Given the description of an element on the screen output the (x, y) to click on. 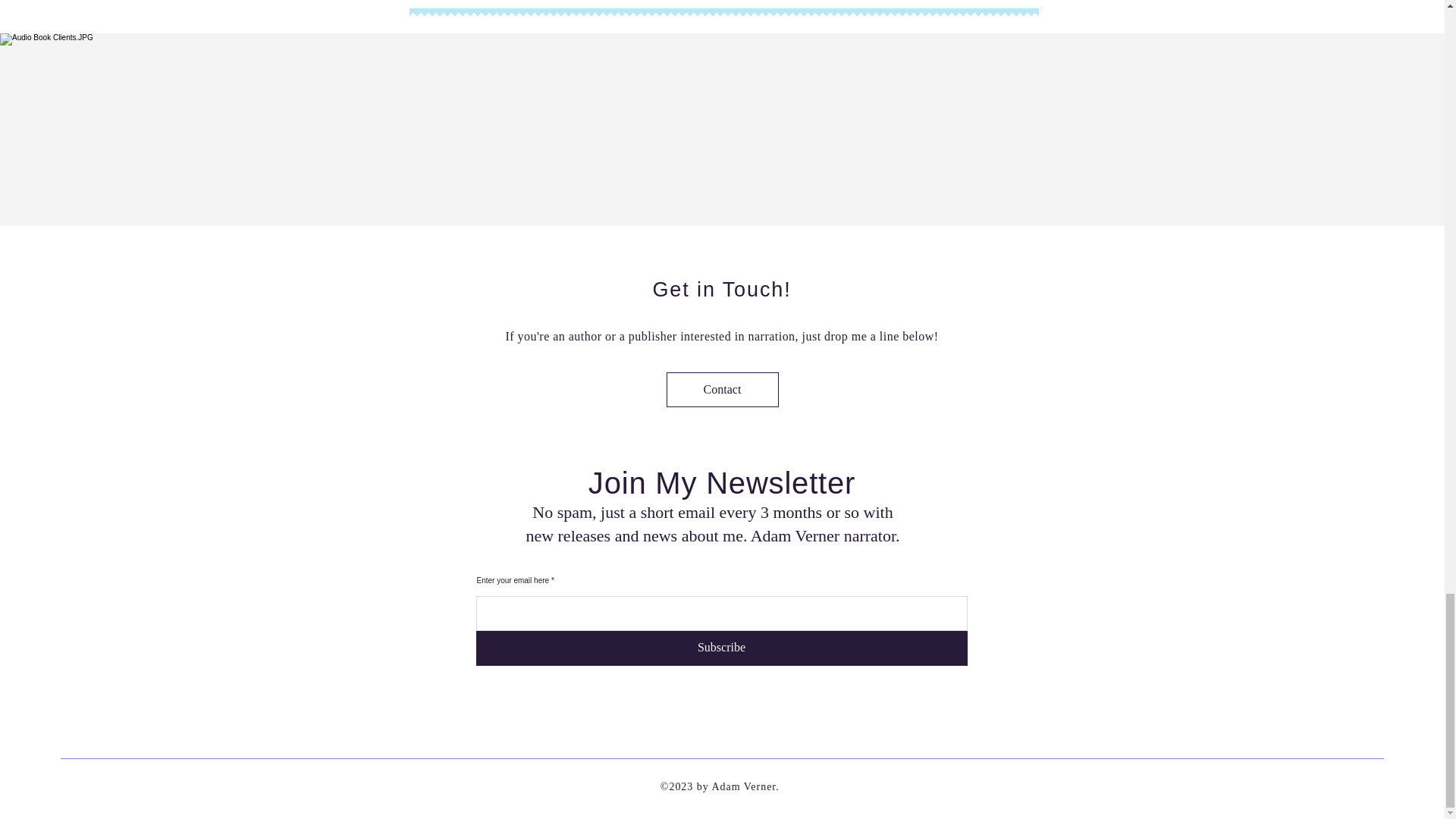
Subscribe (722, 647)
Contact (721, 389)
